Given the description of an element on the screen output the (x, y) to click on. 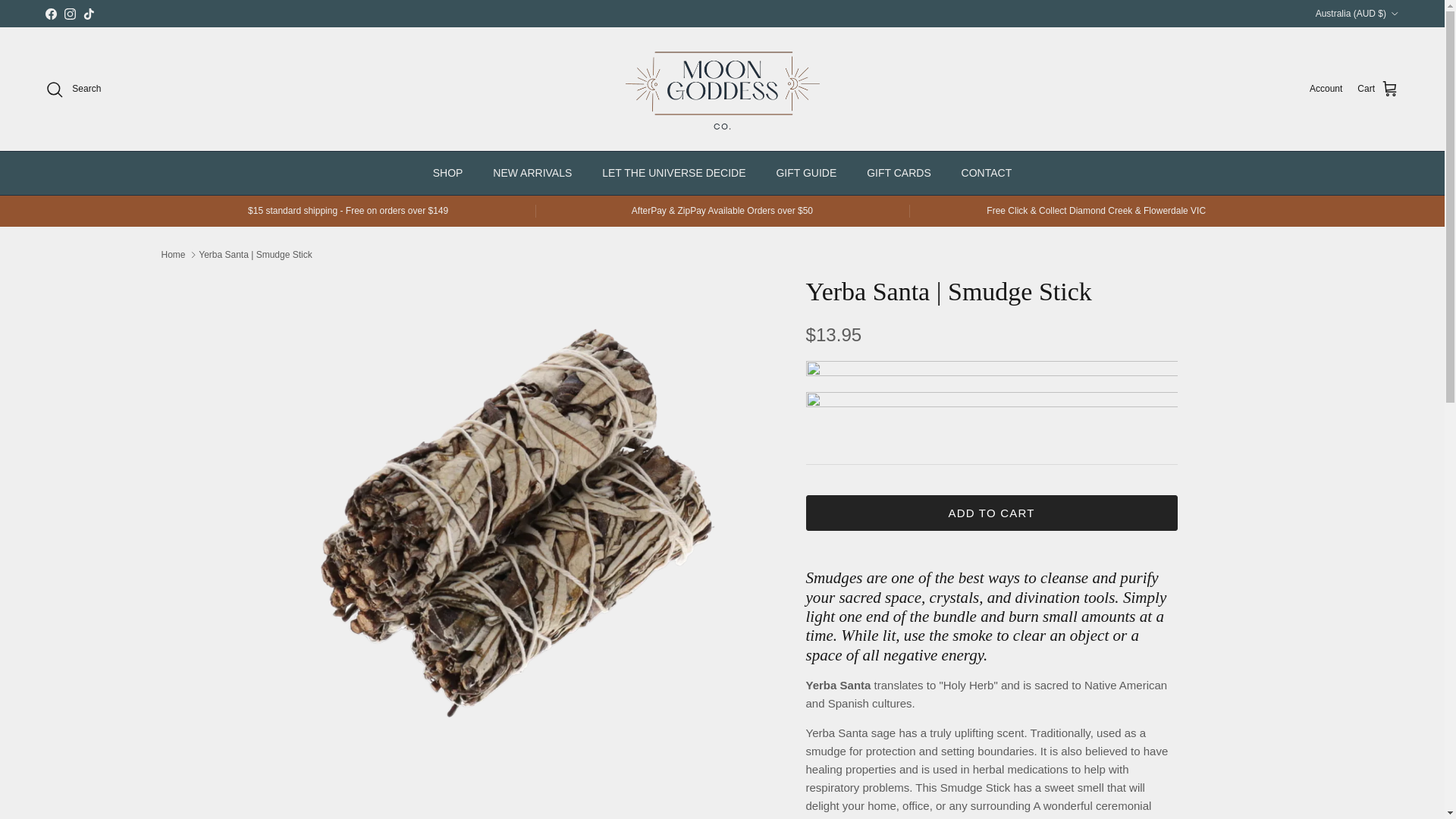
Cart (1377, 89)
TikTok (88, 12)
Search (72, 89)
Account (1325, 88)
Moon Goddess Co on Instagram (69, 12)
Facebook (50, 12)
Instagram (69, 12)
Moon Goddess Co on TikTok (88, 12)
SHOP (448, 172)
Moon Goddess Co (721, 88)
Moon Goddess Co on Facebook (50, 12)
